Given the description of an element on the screen output the (x, y) to click on. 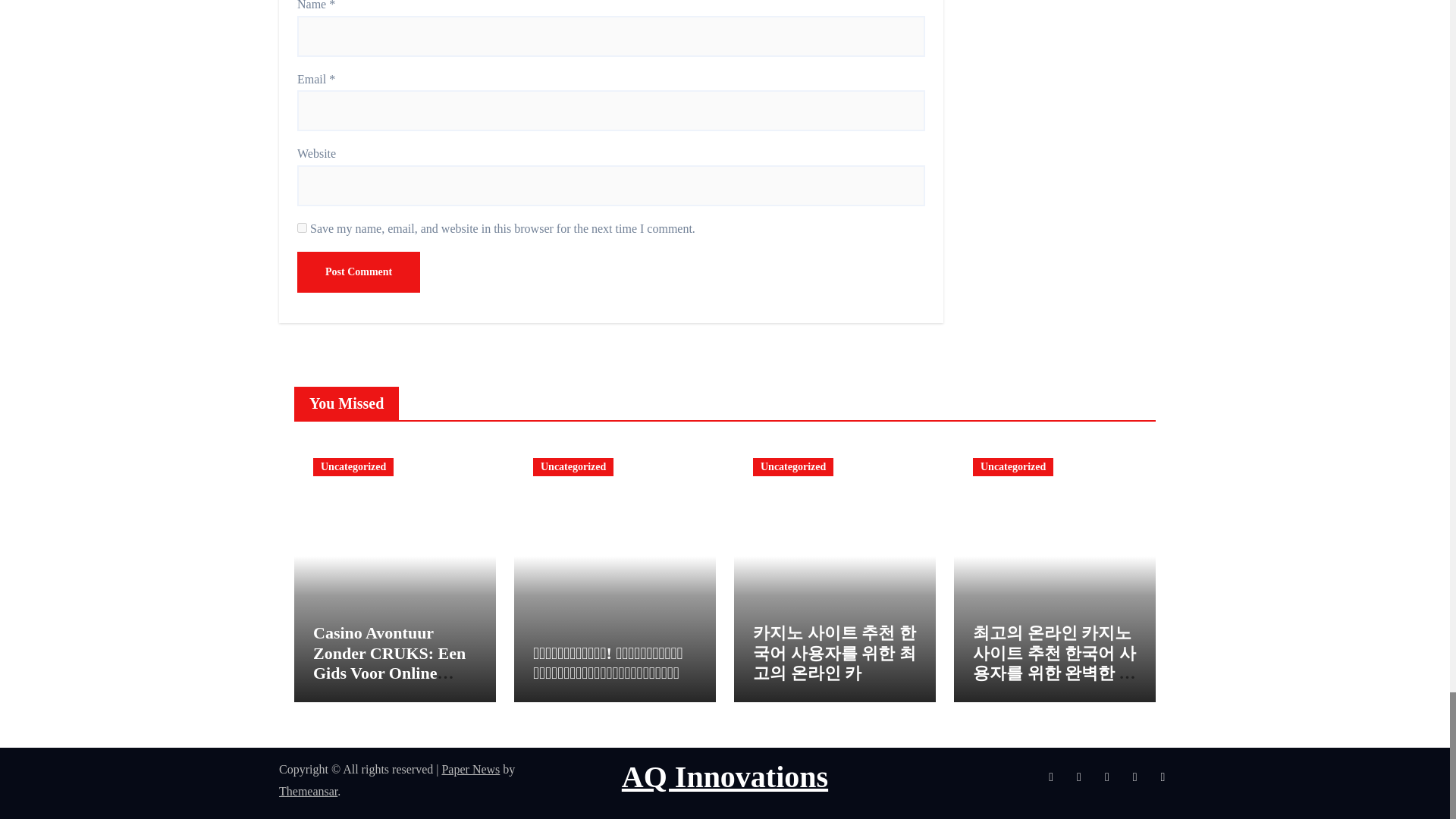
Post Comment (358, 271)
yes (302, 227)
